Given the description of an element on the screen output the (x, y) to click on. 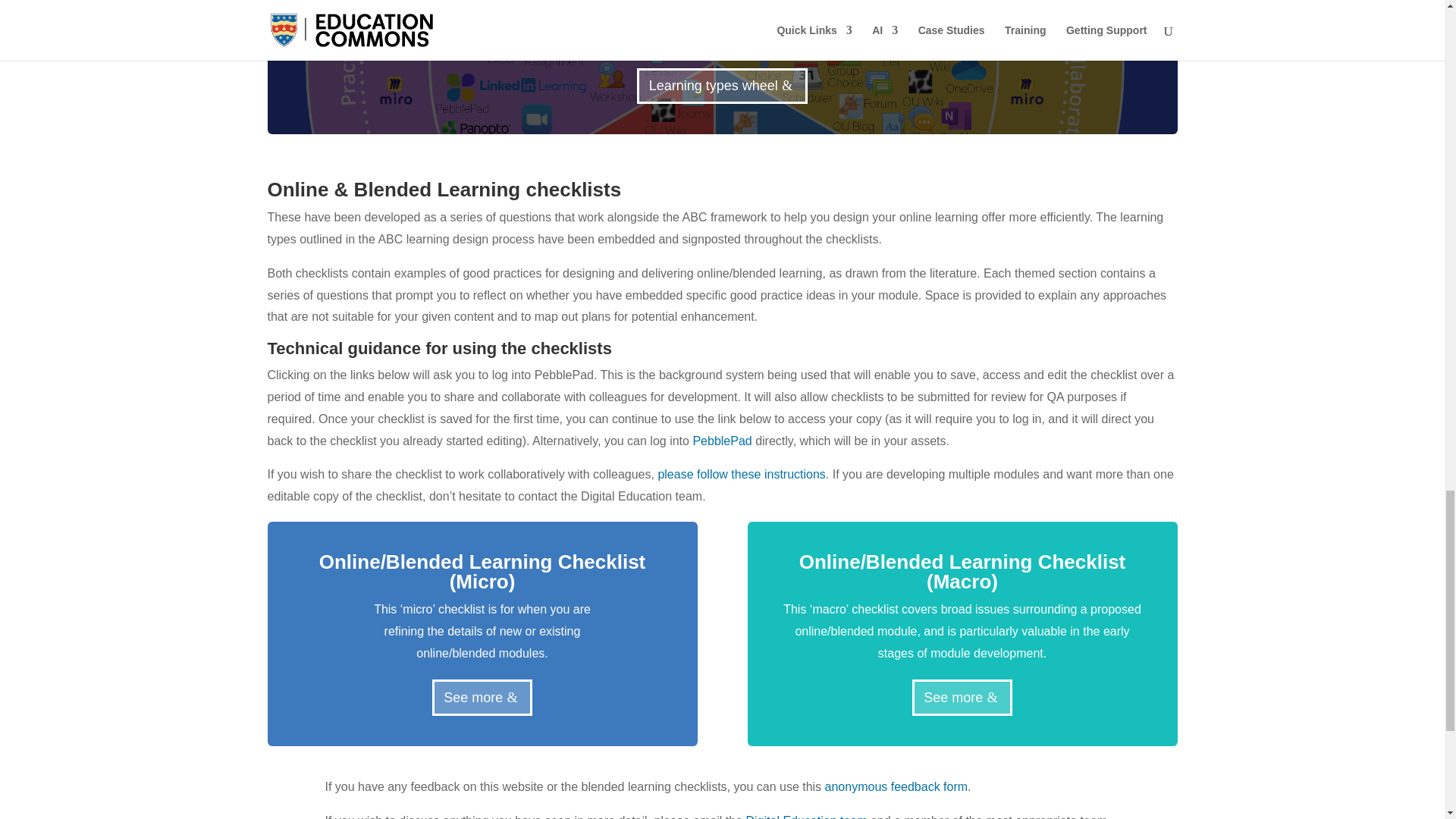
See more (482, 696)
Digital Education team (807, 816)
See more (962, 696)
PebblePad (722, 440)
please follow these instructions (741, 473)
Learning types wheel (722, 85)
anonymous feedback form (896, 786)
